Given the description of an element on the screen output the (x, y) to click on. 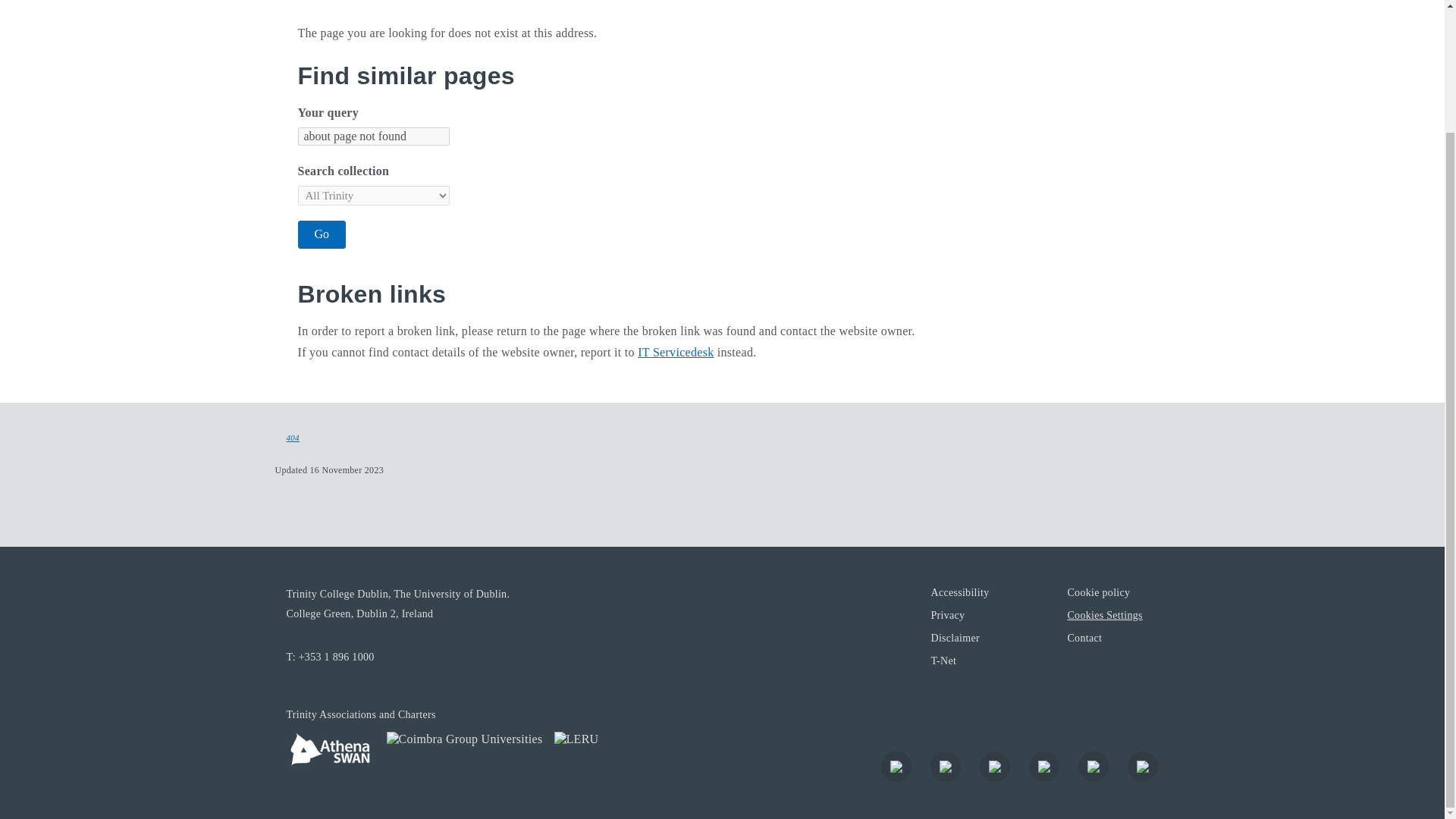
 about page not found  (372, 136)
IT Servicedesk (675, 351)
Disclaimer (954, 636)
404 (292, 438)
T-Net (943, 659)
Privacy (946, 614)
Go (321, 234)
Cookies Settings (1104, 614)
Go (321, 234)
Cookie policy (1098, 591)
 about page not found  (372, 136)
Accessibility (959, 591)
Contact (1084, 636)
